Given the description of an element on the screen output the (x, y) to click on. 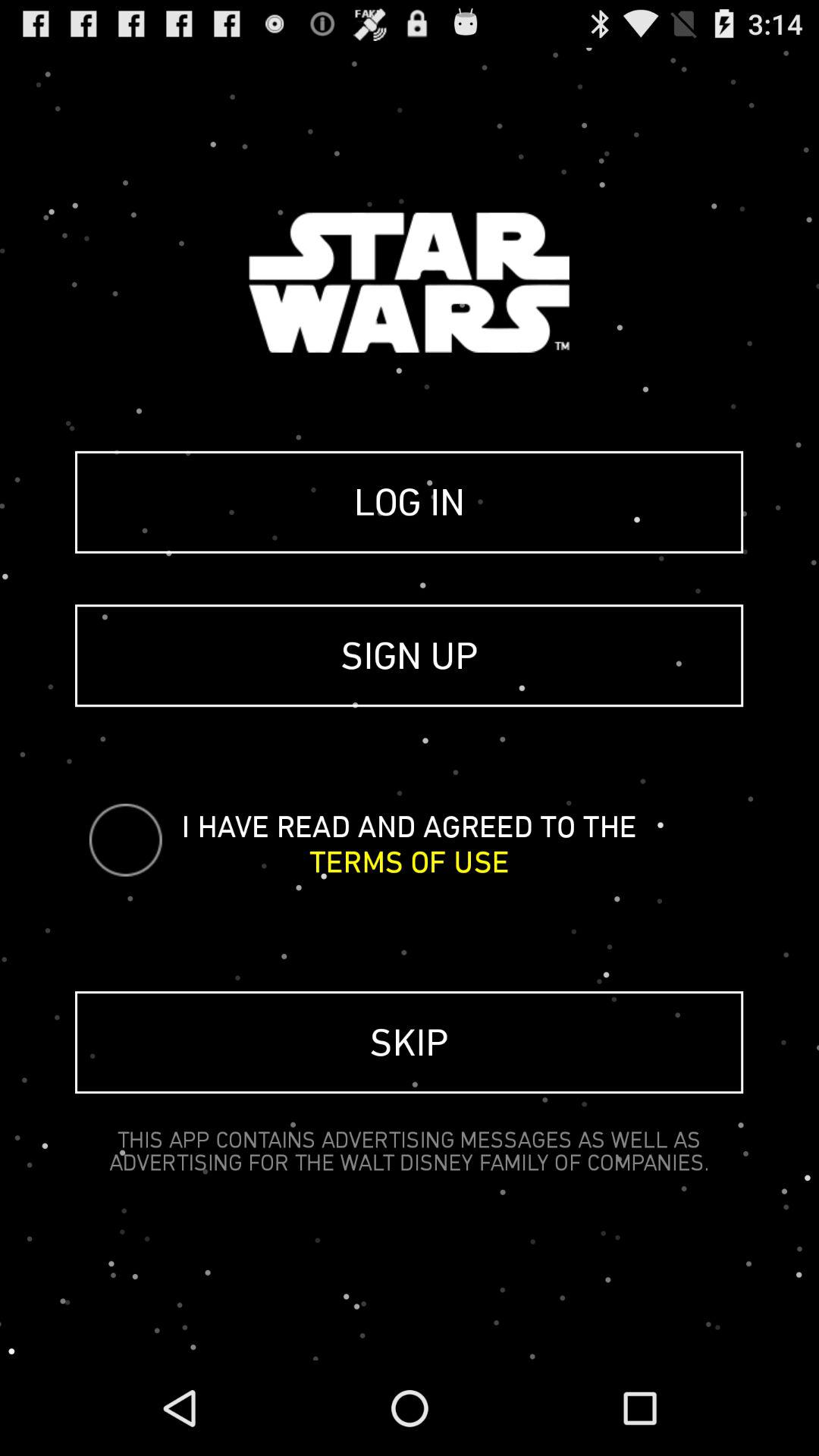
tap sign up item (409, 655)
